Given the description of an element on the screen output the (x, y) to click on. 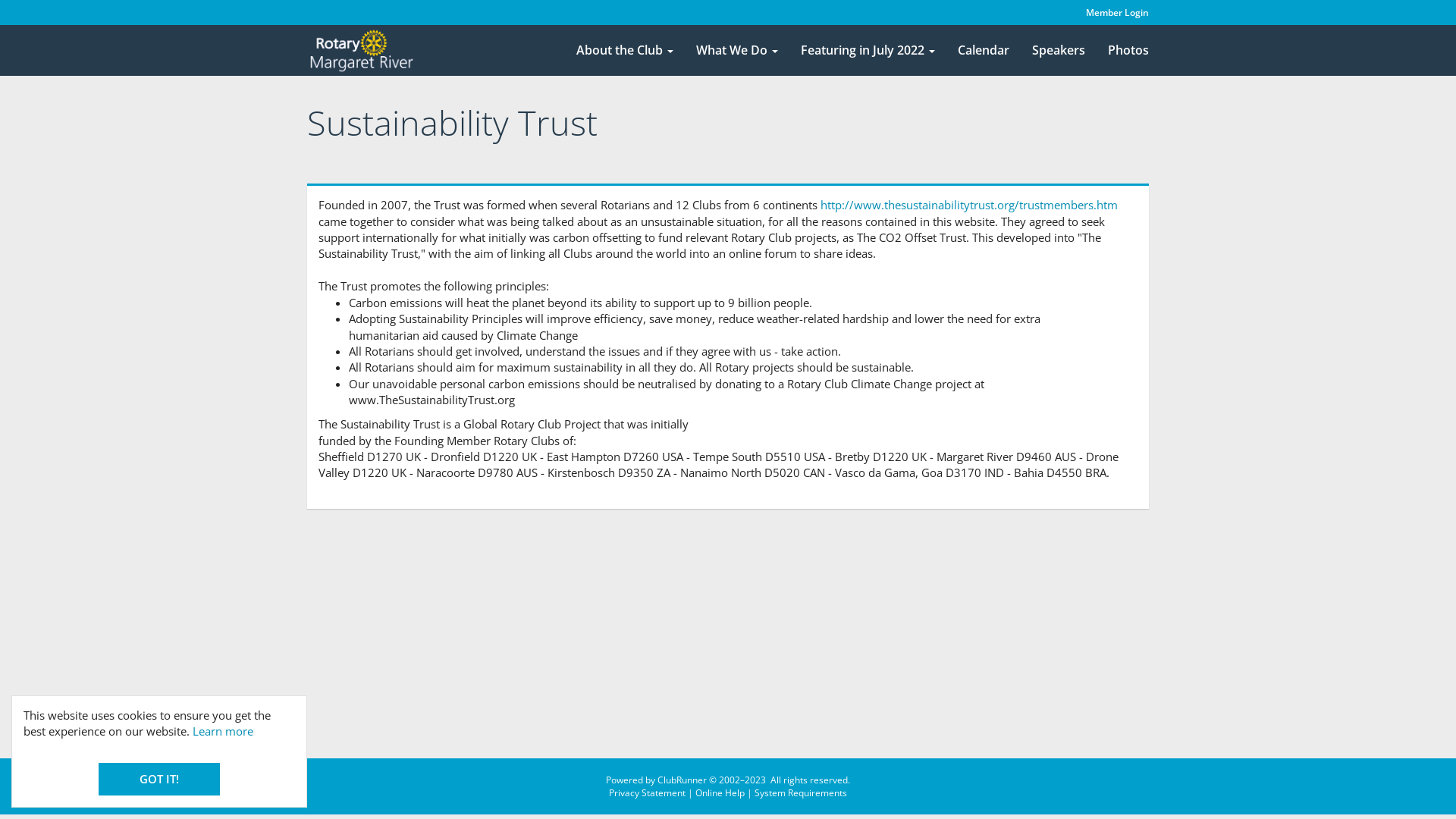
GOT IT! Element type: text (158, 778)
Photos Element type: text (1128, 50)
Privacy Statement Element type: text (646, 792)
http://www.thesustainabilitytrust.org/trustmembers.htm Element type: text (968, 204)
ClubRunner Element type: text (681, 779)
Member Login Element type: text (1116, 12)
Learn more Element type: text (222, 730)
Featuring in July 2022 Element type: text (867, 50)
Calendar Element type: text (983, 50)
What We Do Element type: text (736, 50)
Online Help Element type: text (719, 792)
About the Club Element type: text (624, 50)
Speakers Element type: text (1058, 50)
System Requirements Element type: text (800, 792)
